Given the description of an element on the screen output the (x, y) to click on. 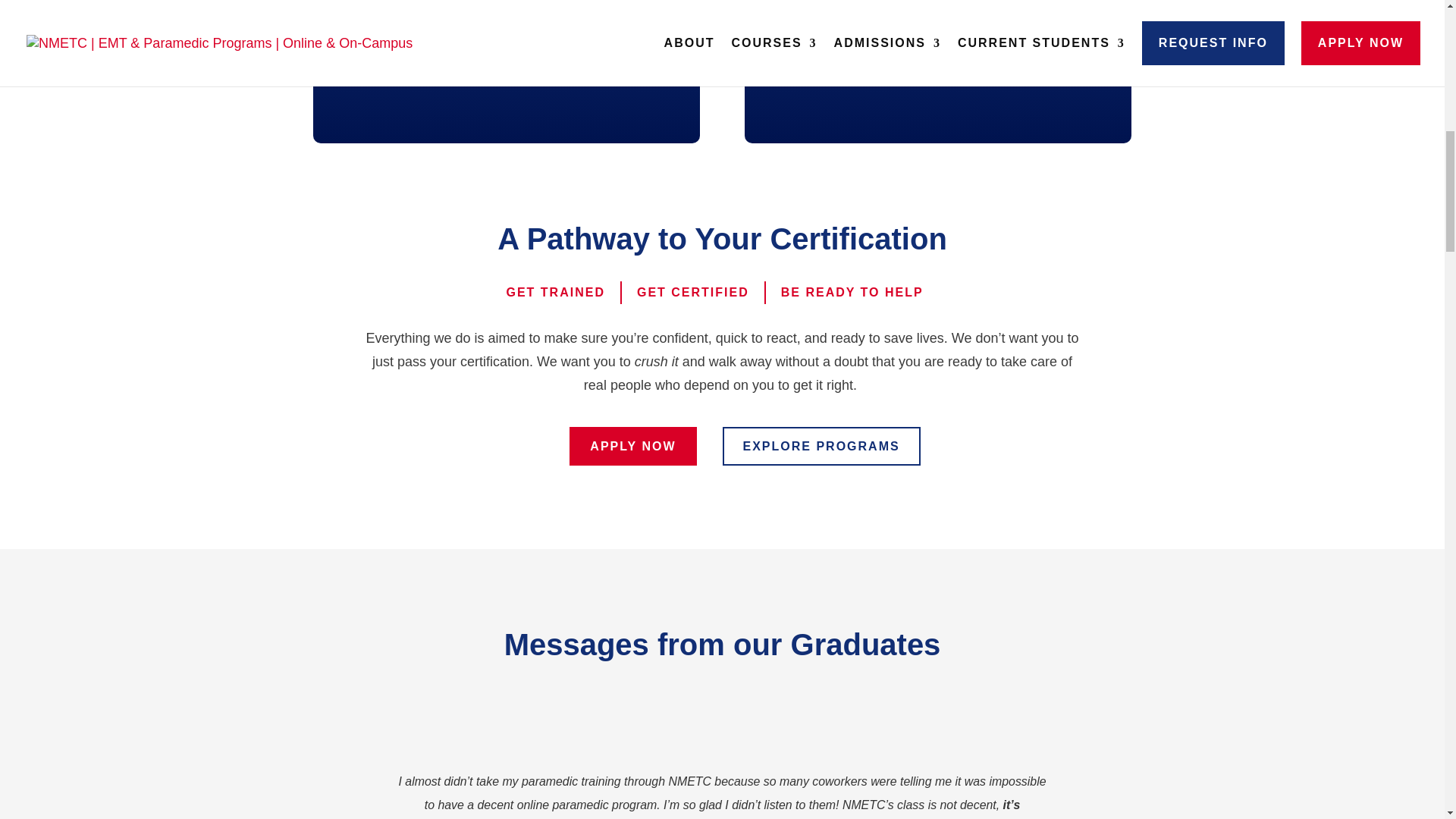
NMETC Home Icon Testimonials (721, 724)
APPLY NOW (632, 446)
EXPLORE PROGRAMS (821, 446)
